Given the description of an element on the screen output the (x, y) to click on. 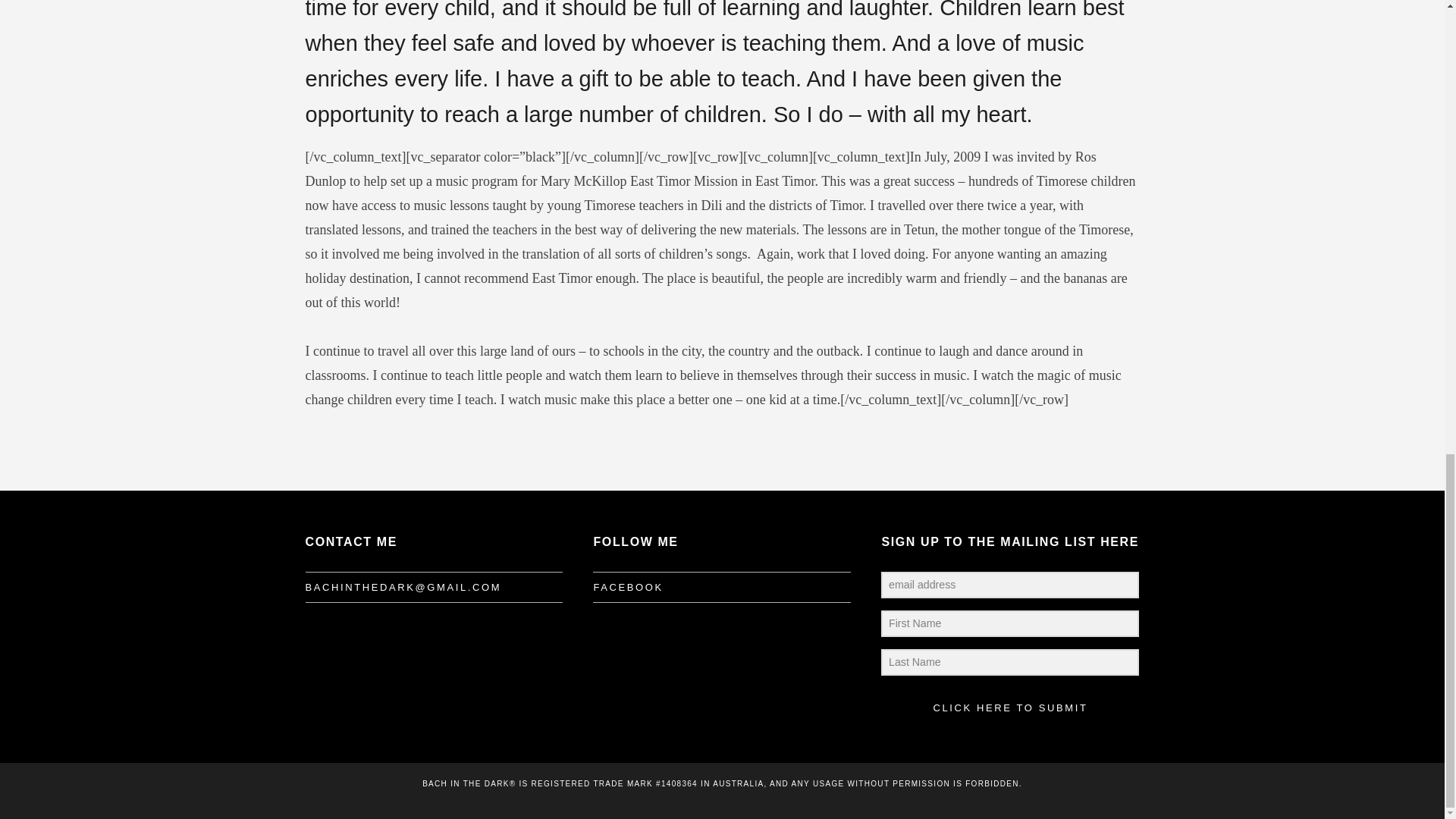
Last Name (1009, 662)
First Name (1009, 623)
email address (1009, 584)
FACEBOOK (627, 587)
CLICK HERE TO SUBMIT (1009, 708)
